Given the description of an element on the screen output the (x, y) to click on. 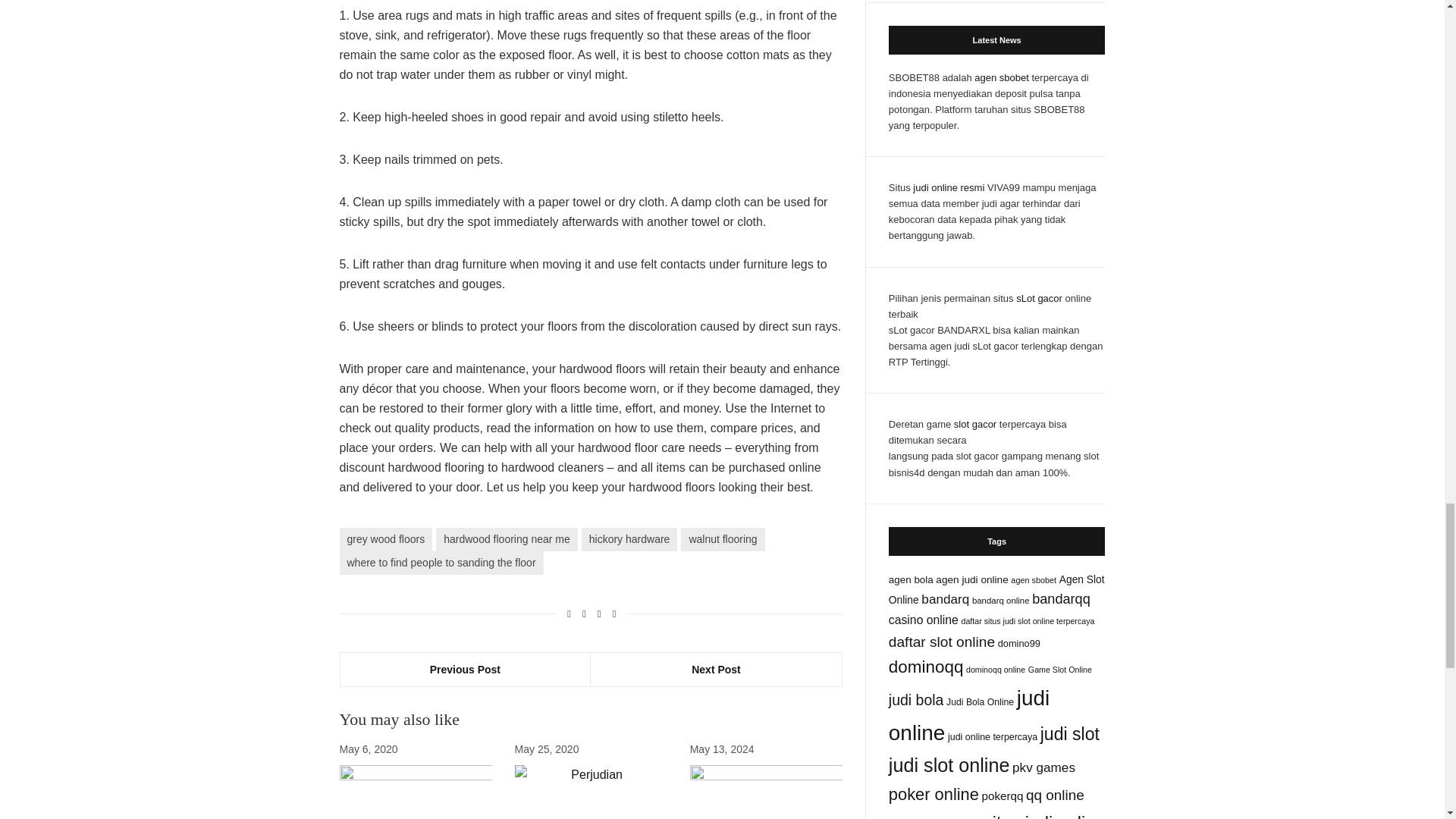
grey wood floors (385, 539)
hardwood flooring near me (506, 539)
hickory hardware (629, 539)
Previous Post (465, 669)
where to find people to sanding the floor (441, 562)
walnut flooring (722, 539)
Next Post (716, 669)
